Given the description of an element on the screen output the (x, y) to click on. 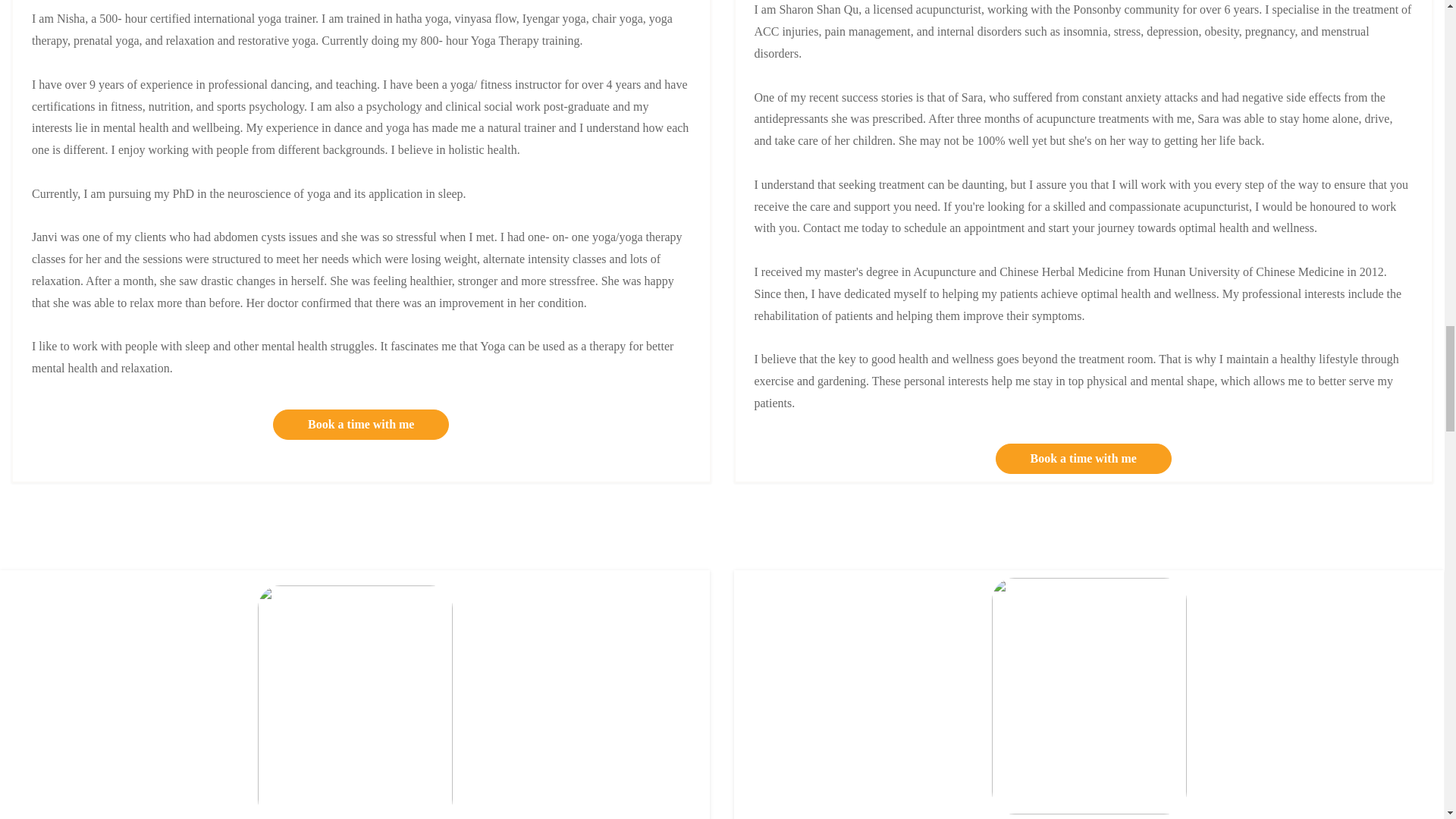
Book a time with me (1083, 458)
Book a time with me (360, 424)
